Given the description of an element on the screen output the (x, y) to click on. 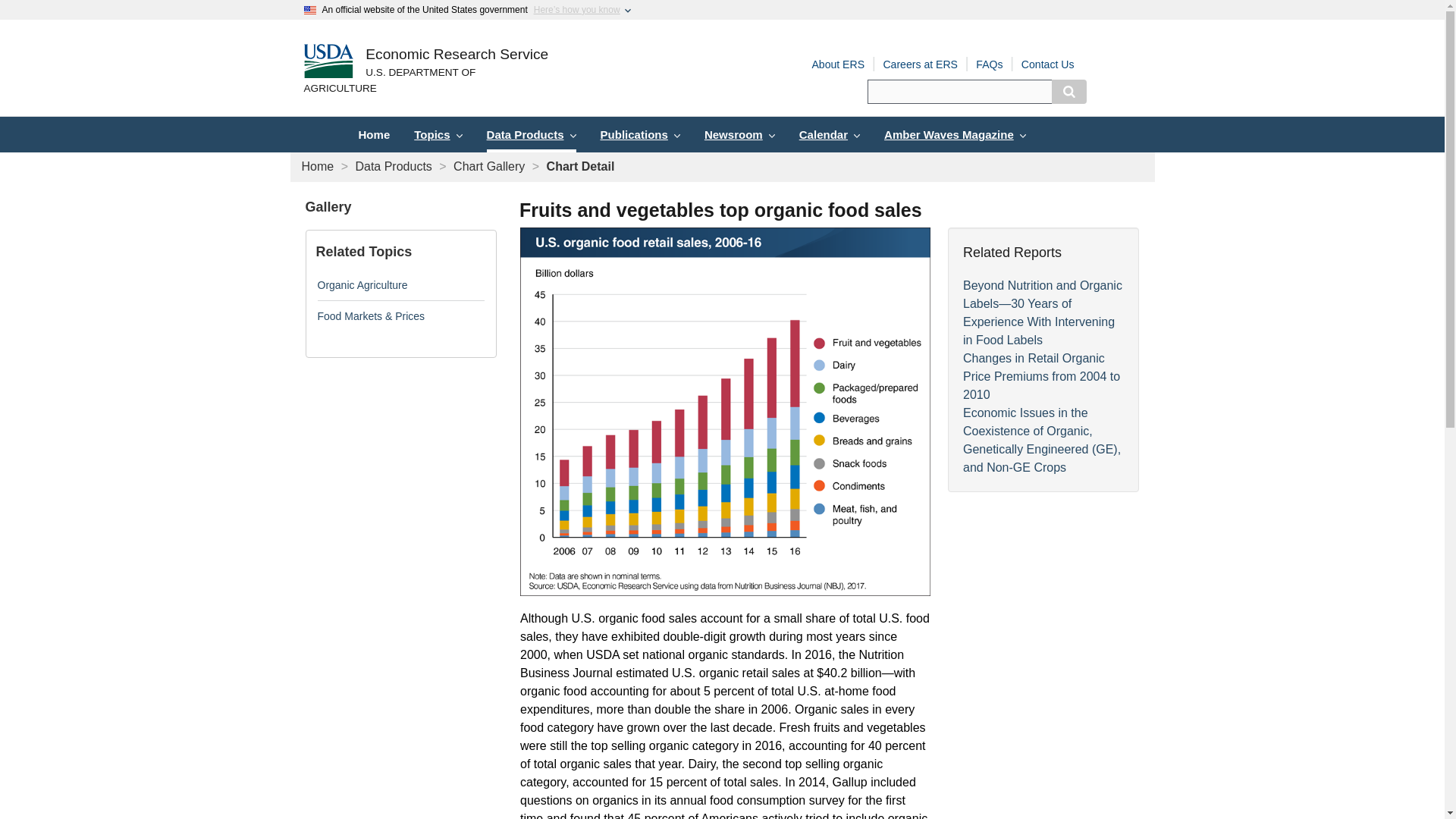
Contact Us (1048, 63)
Data Products (531, 134)
Newsroom (740, 134)
U.S. DEPARTMENT OF AGRICULTURE (425, 81)
Home (317, 165)
Organic Agriculture (362, 285)
About ERS (837, 63)
Economic Research Service (456, 54)
Careers at ERS (920, 63)
Home (456, 54)
Home (373, 134)
Amber Waves Magazine (955, 134)
Calendar (829, 134)
Changes in Retail Organic Price Premiums from 2004 to 2010 (1040, 376)
FAQs (989, 63)
